Given the description of an element on the screen output the (x, y) to click on. 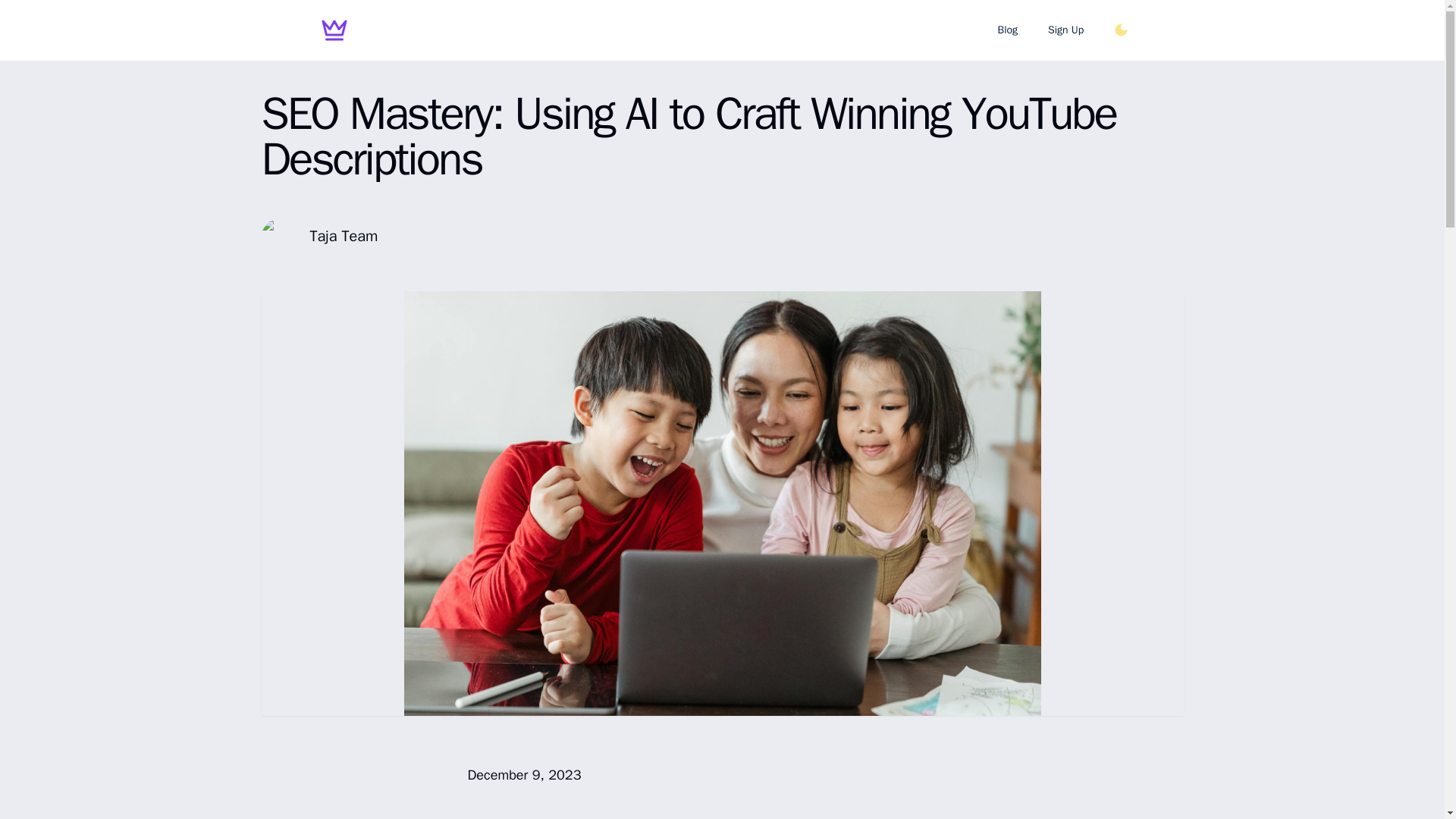
Blog (1007, 30)
Toggle theme (1121, 30)
Sign Up (1065, 30)
